Given the description of an element on the screen output the (x, y) to click on. 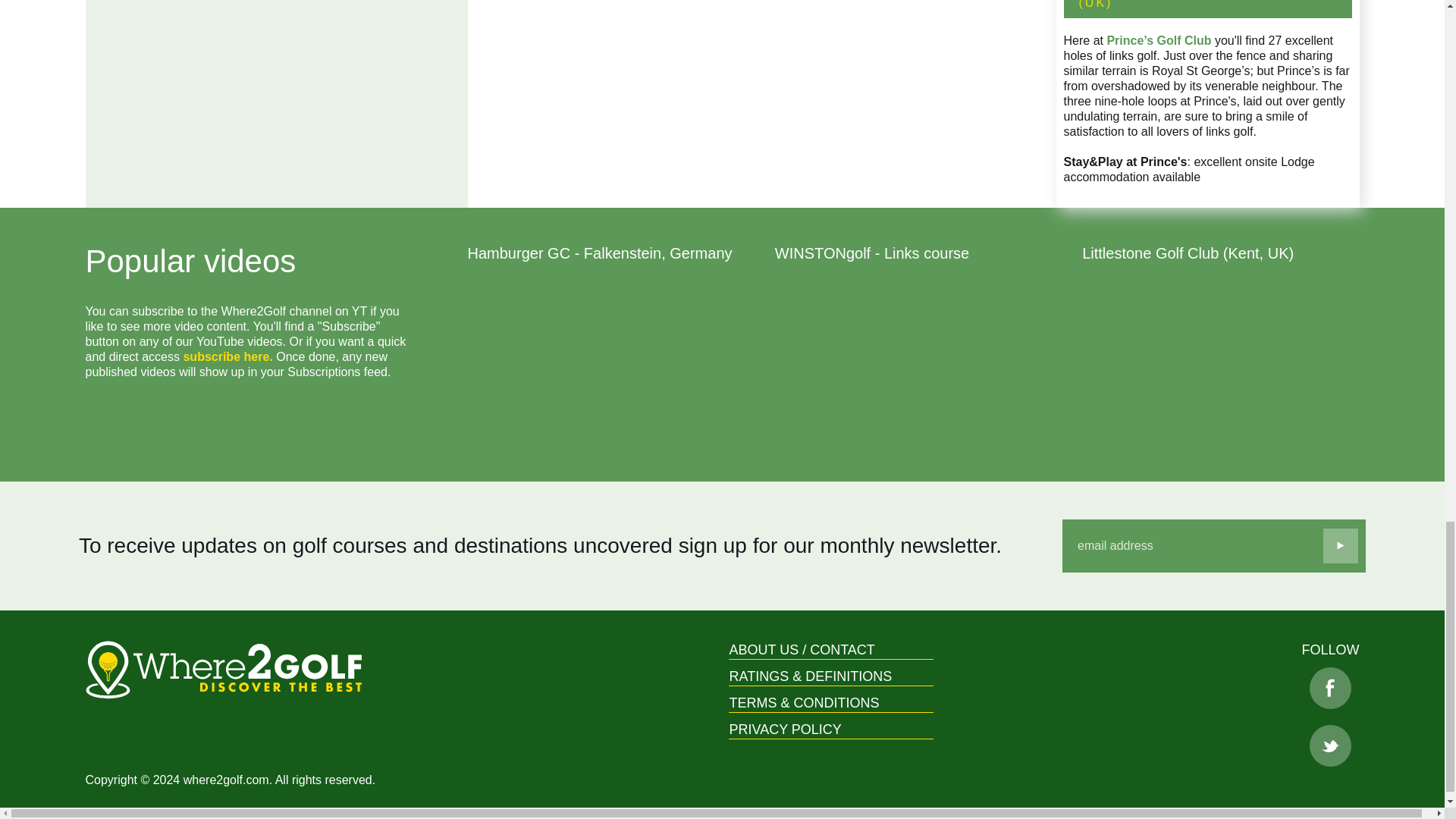
Hamburger GC - Falkenstein (605, 365)
Subscribe (1340, 545)
WINSTONgolf - Links course (912, 365)
